Given the description of an element on the screen output the (x, y) to click on. 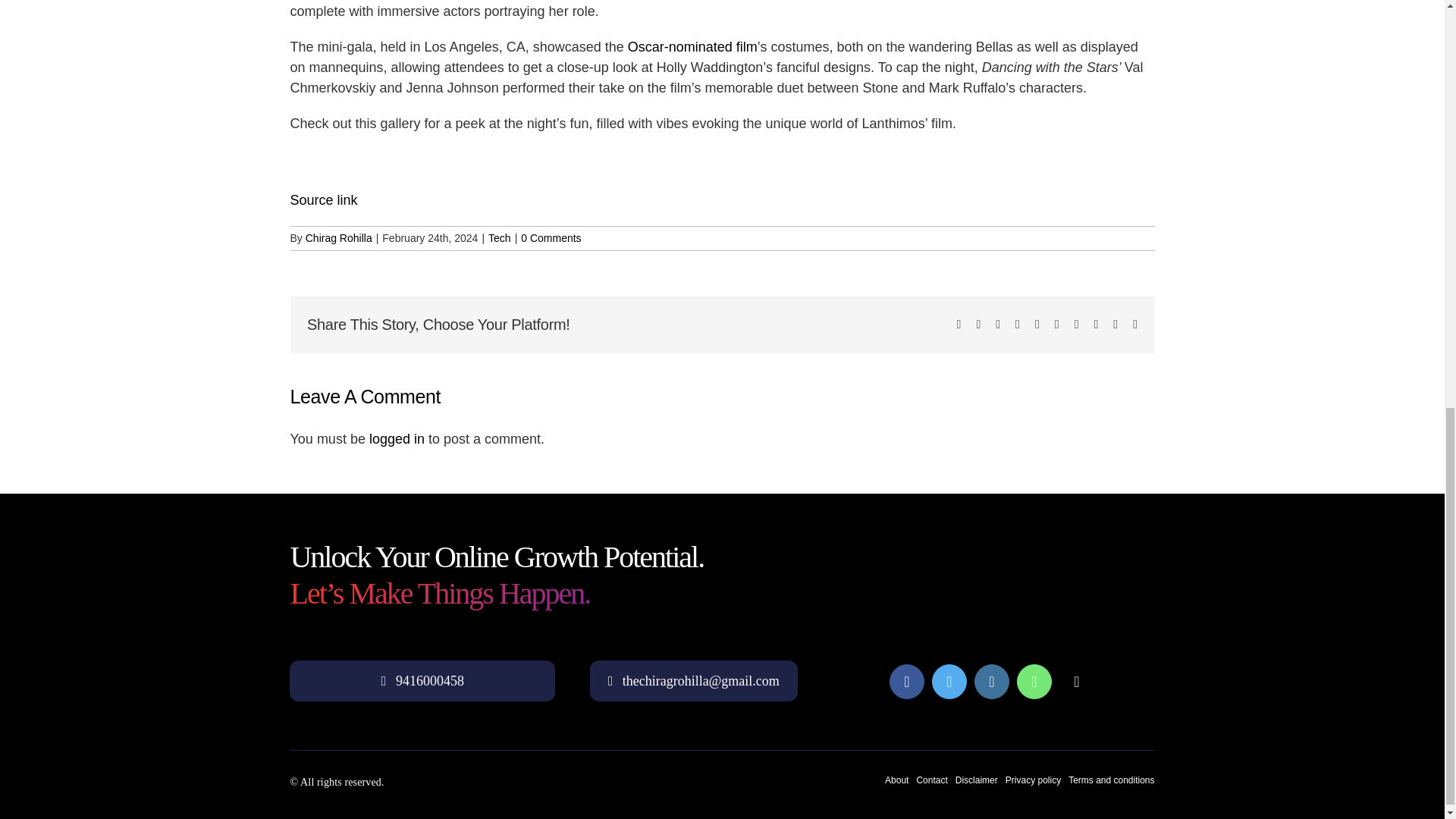
Chirag Rohilla (338, 237)
9416000458 (421, 680)
About (896, 780)
Privacy policy (1033, 780)
Tech (499, 237)
0 Comments (550, 237)
Phone (1076, 681)
WhatsApp (1033, 681)
logged in (397, 438)
Contact (931, 780)
